Given the description of an element on the screen output the (x, y) to click on. 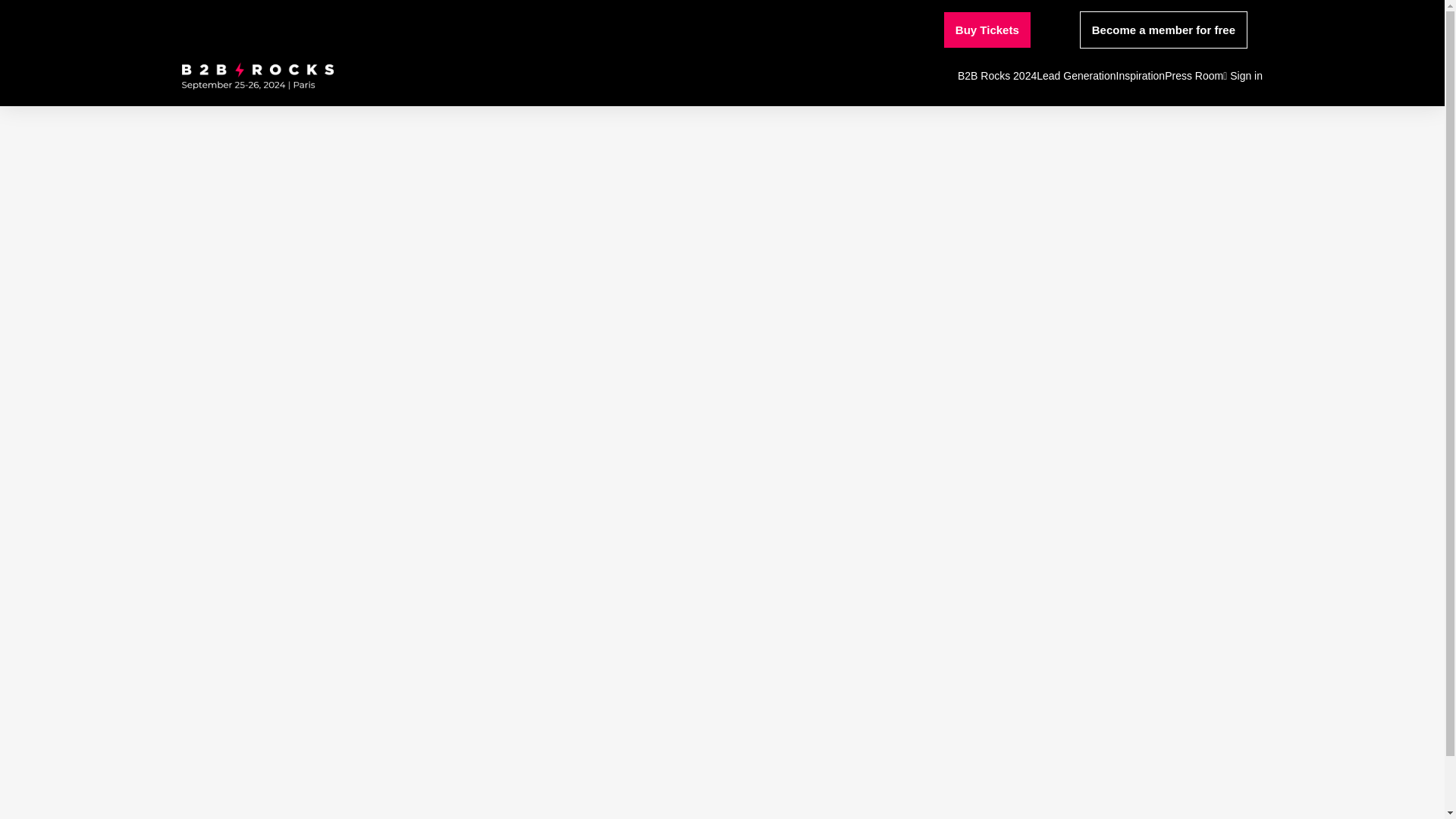
Buy Tickets (986, 29)
Lead Generation (1075, 75)
Press Room (1193, 75)
B2B Rocks 2024 (997, 75)
Sign in (1242, 75)
Inspiration (1141, 75)
Become a member for free (1163, 29)
